Given the description of an element on the screen output the (x, y) to click on. 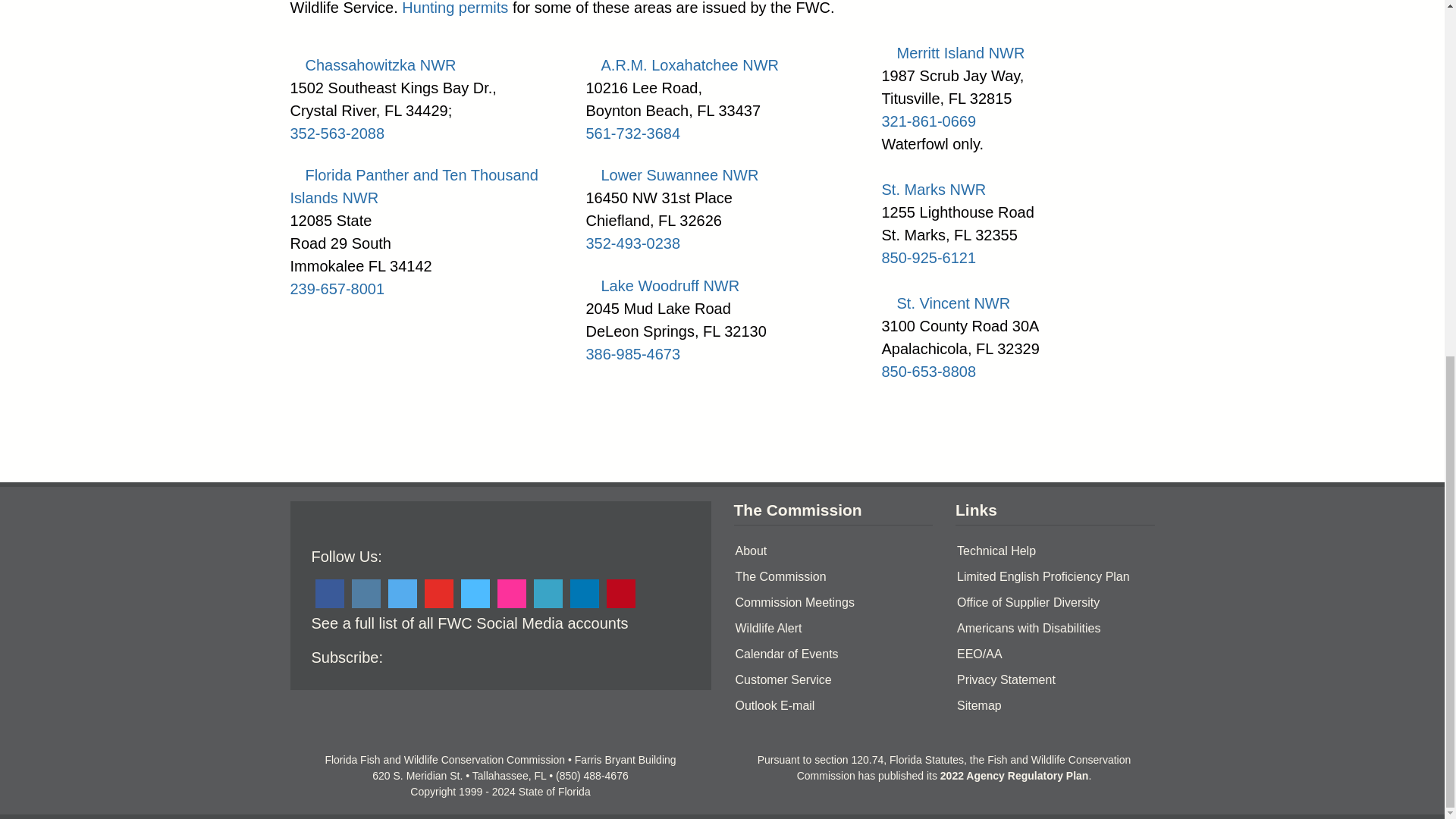
Lower Suwannee NWR (671, 175)
2022 Regulatory Plan (1014, 775)
Lake Woodruff NWR (662, 285)
Chassahowitzka NWR (372, 64)
A.R.M. Loxahatchee NWR (681, 64)
Merritt Island NWR (952, 53)
St. Vincent NWR (945, 303)
NWR Hunts (454, 7)
